Given the description of an element on the screen output the (x, y) to click on. 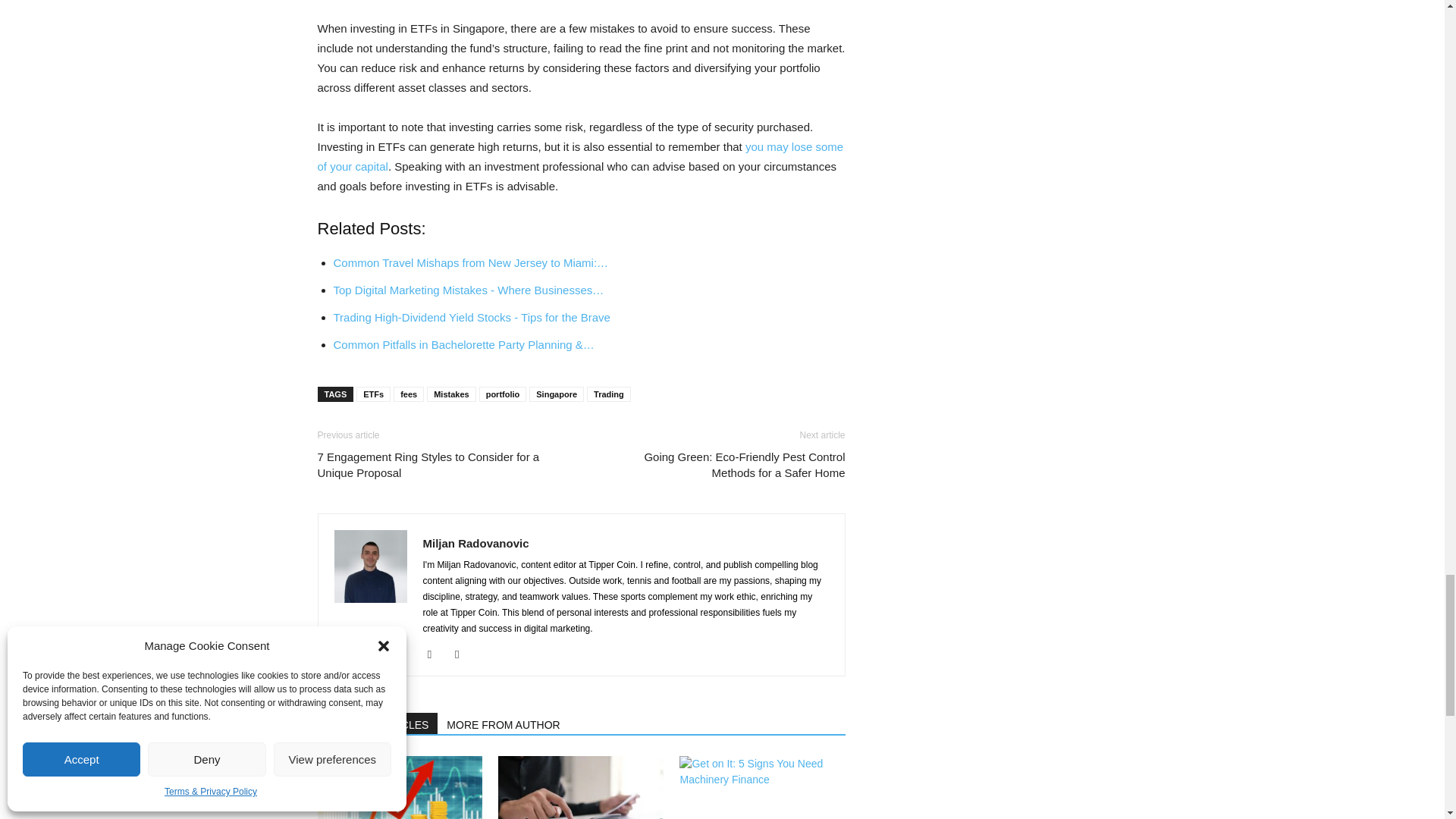
Linkedin (462, 654)
Instagram (435, 654)
